Given the description of an element on the screen output the (x, y) to click on. 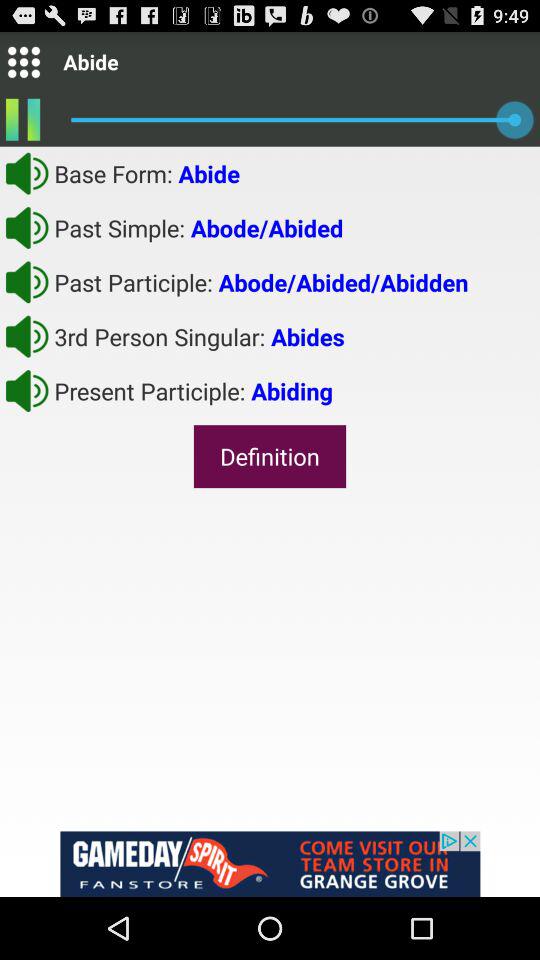
go back (27, 282)
